Given the description of an element on the screen output the (x, y) to click on. 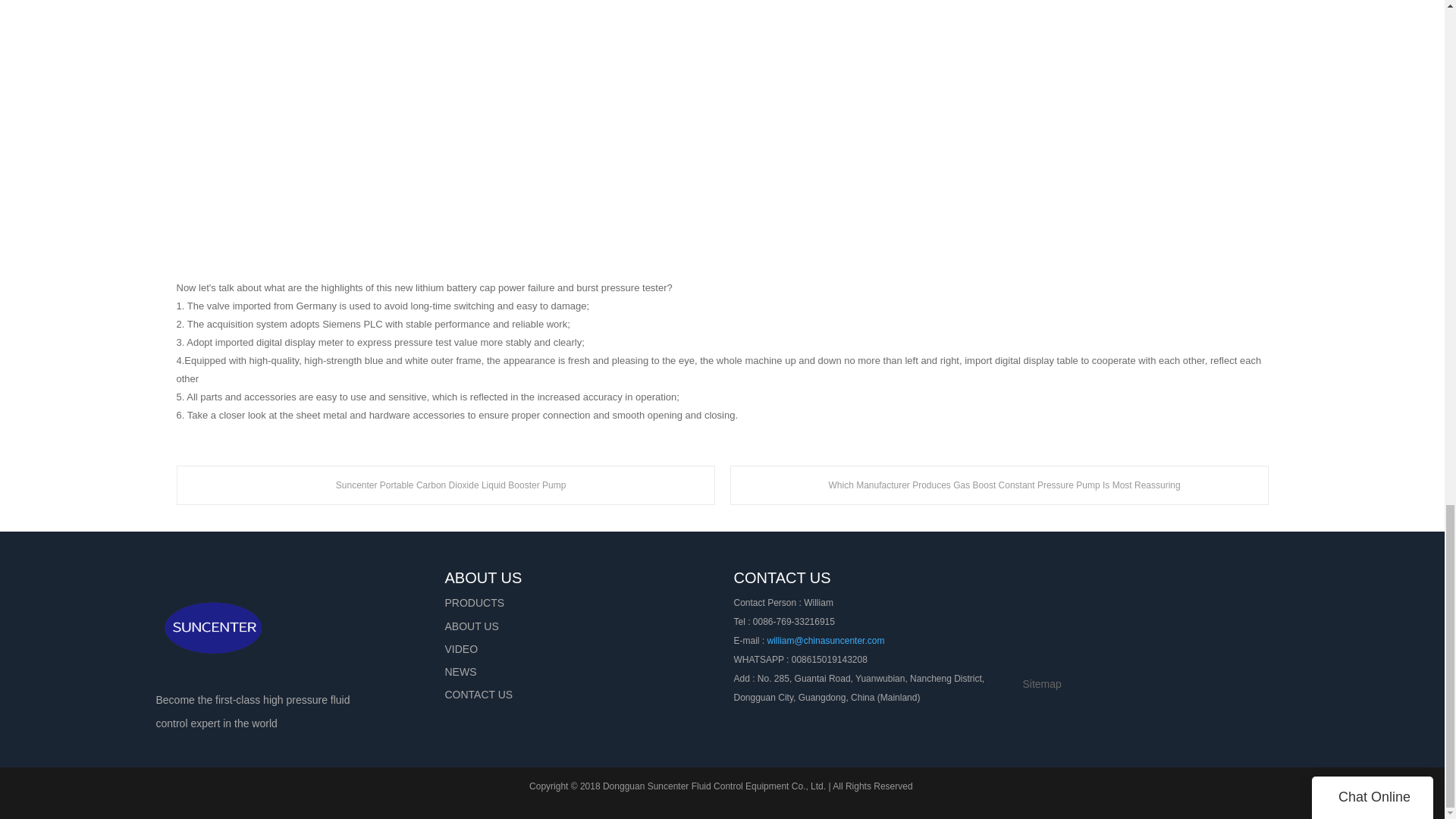
Suncenter Portable Carbon Dioxide Liquid Booster Pump (445, 485)
